Given the description of an element on the screen output the (x, y) to click on. 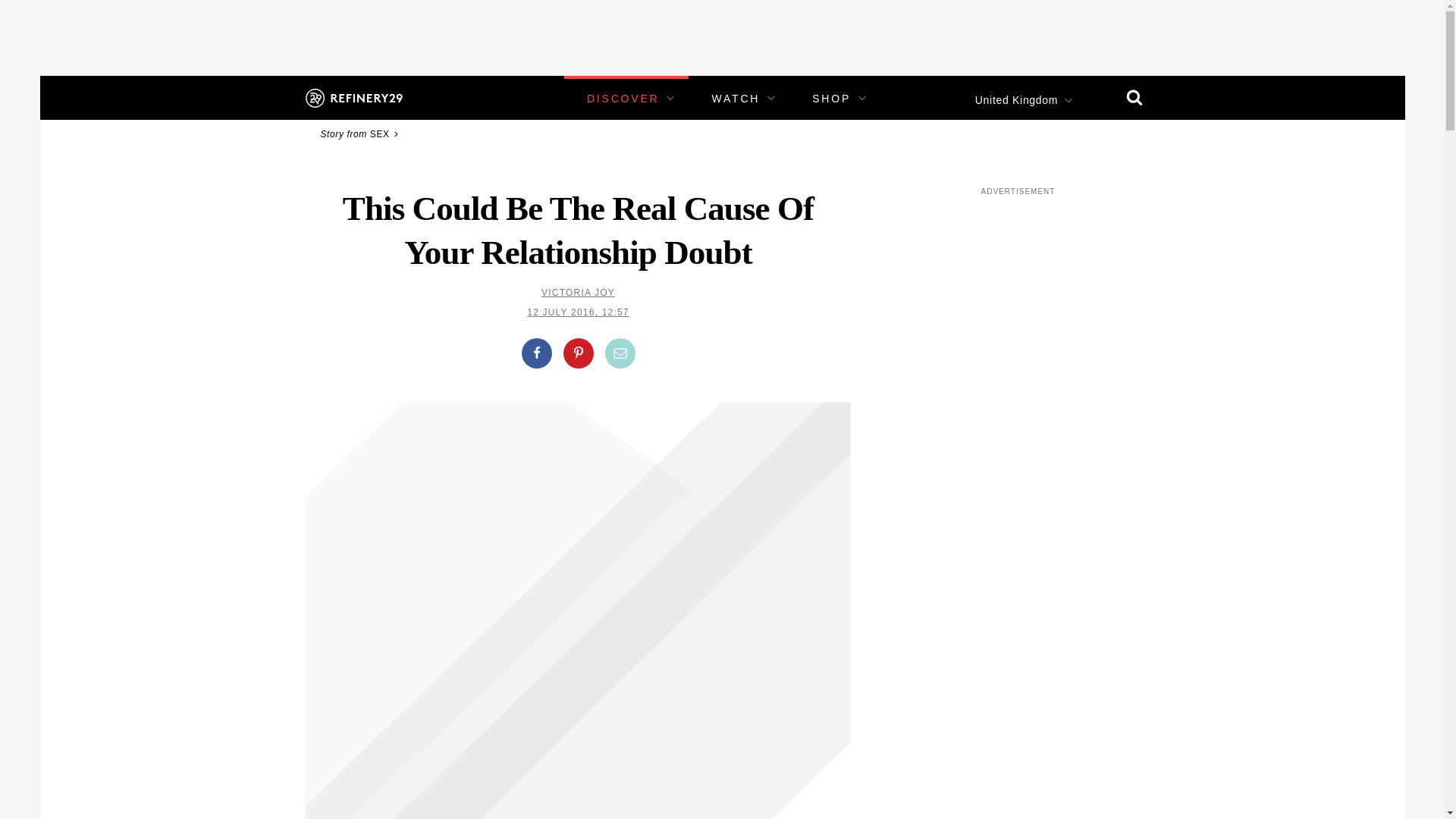
12 JULY 2016, 12:57 (577, 312)
VICTORIA JOY (577, 292)
Share on Pinterest (577, 353)
SHOP (831, 98)
Refinery29 (352, 97)
Story from SEX (361, 133)
Share by Email (619, 353)
DISCOVER (622, 98)
WATCH (735, 98)
